Given the description of an element on the screen output the (x, y) to click on. 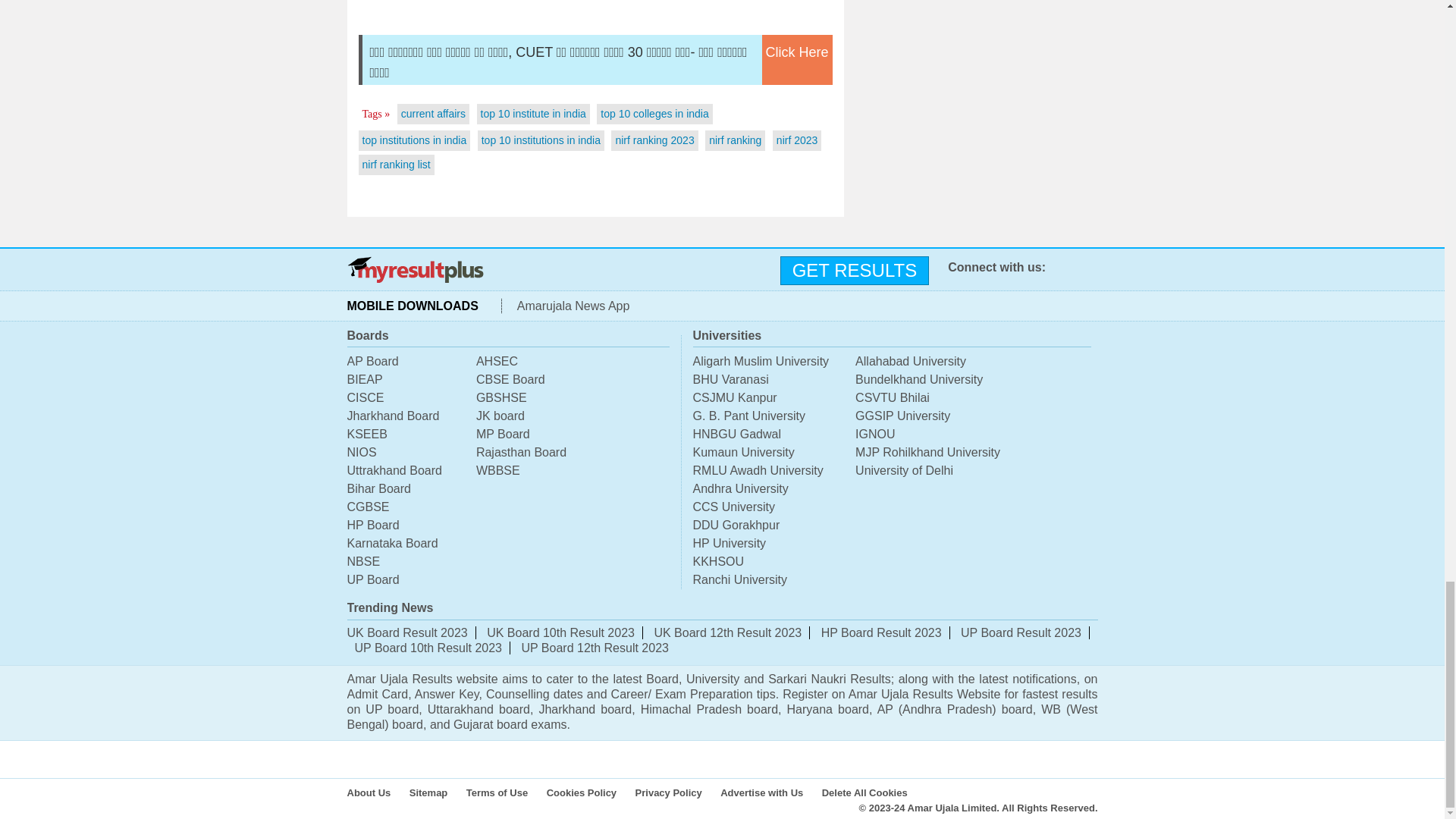
HP Board Result 2023 (881, 632)
nirf ranking 2023 (654, 140)
Delete All Cookies (872, 792)
UP Board 10th Result 2023 (428, 647)
UP Board Result 2023 (1020, 632)
UK Board 12th Result 2023 (727, 632)
top 10 institute in india (533, 113)
UK Board Result 2023 (407, 632)
top institutions in india (414, 140)
top 10 colleges in india (653, 113)
UP Board 12th Result 2023 (594, 647)
current affairs (433, 113)
top 10 institutions in india (540, 140)
UK Board 10th Result 2023 (560, 632)
